Given the description of an element on the screen output the (x, y) to click on. 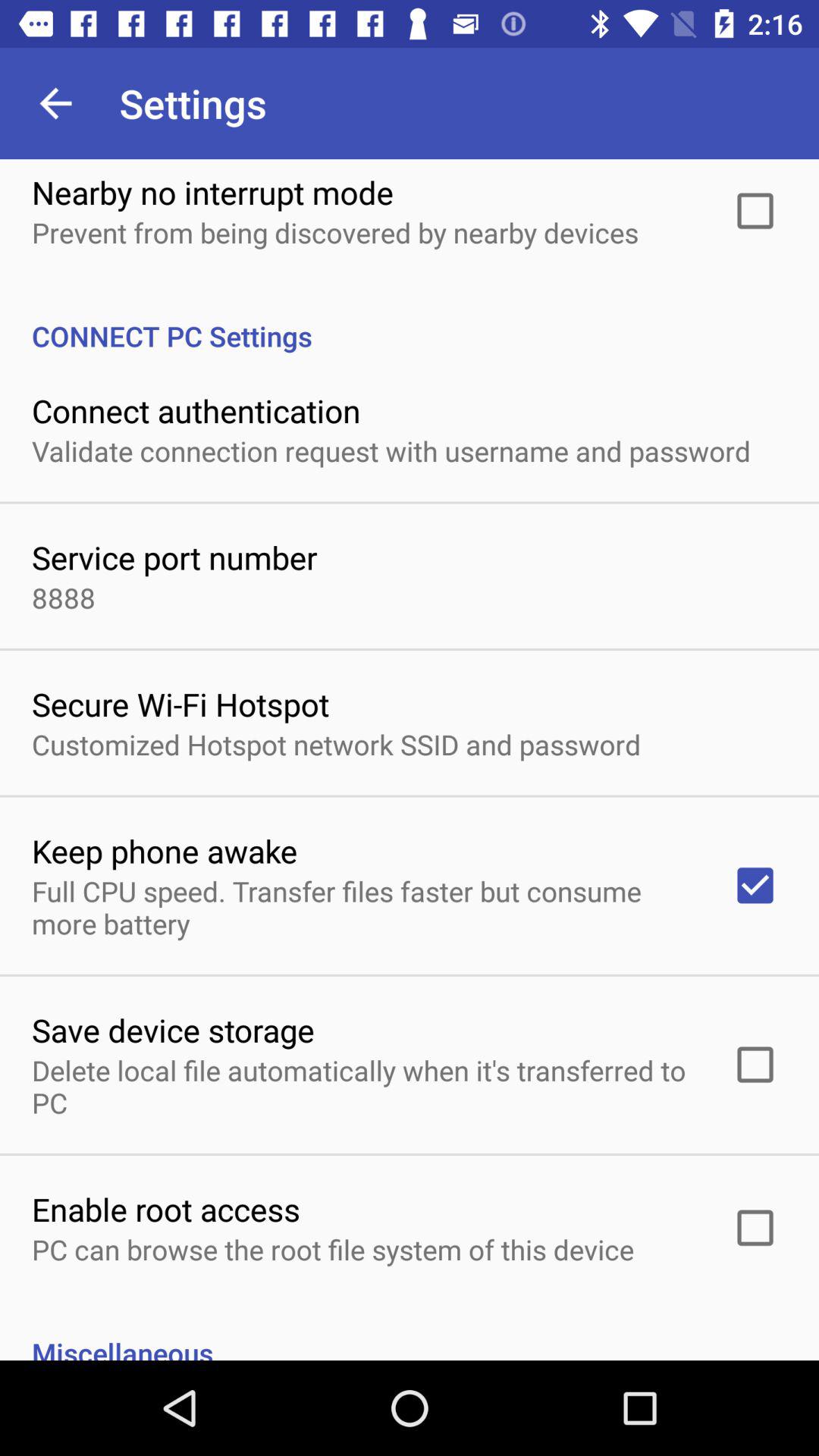
go back (55, 103)
